Given the description of an element on the screen output the (x, y) to click on. 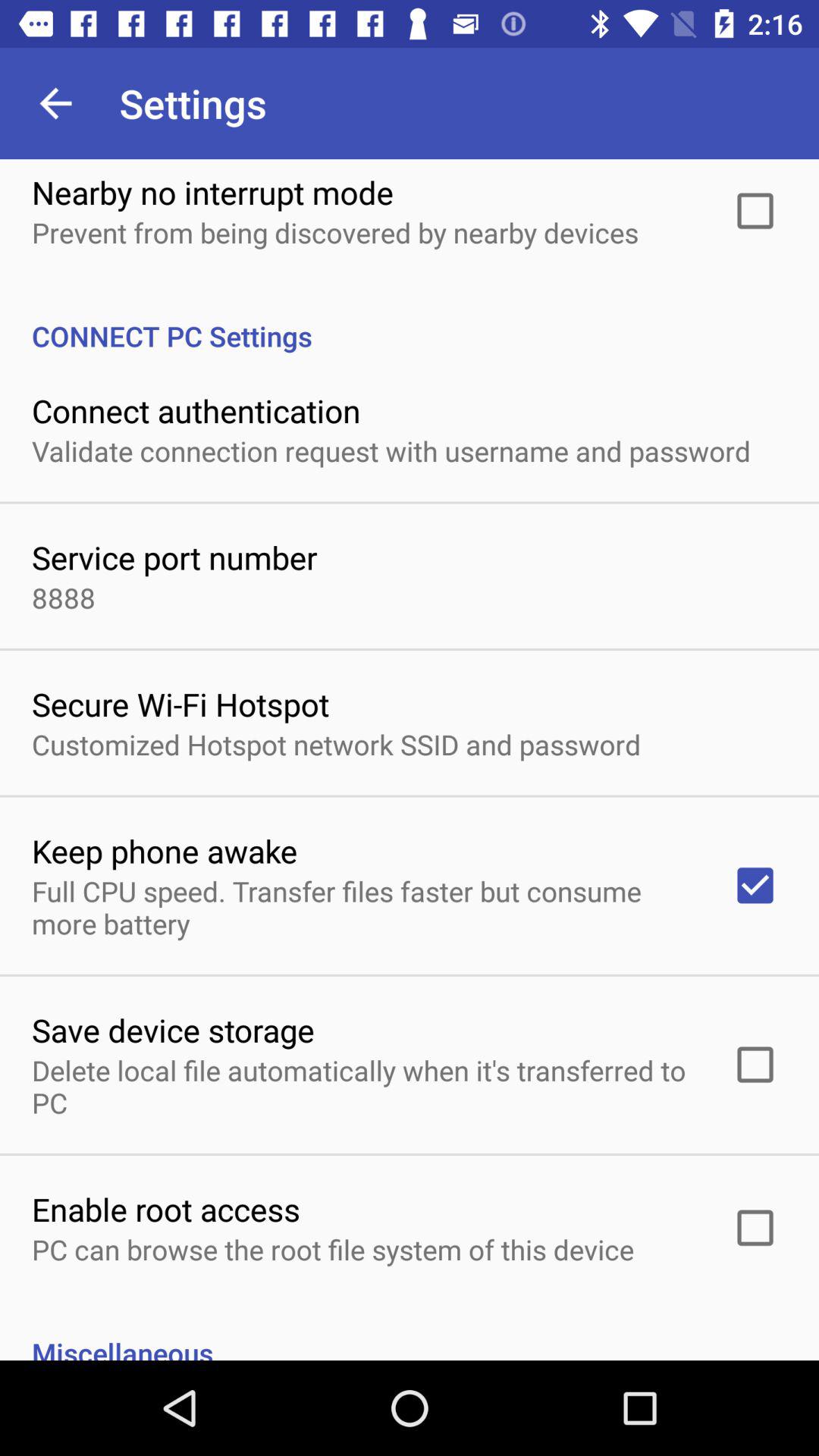
go back (55, 103)
